Given the description of an element on the screen output the (x, y) to click on. 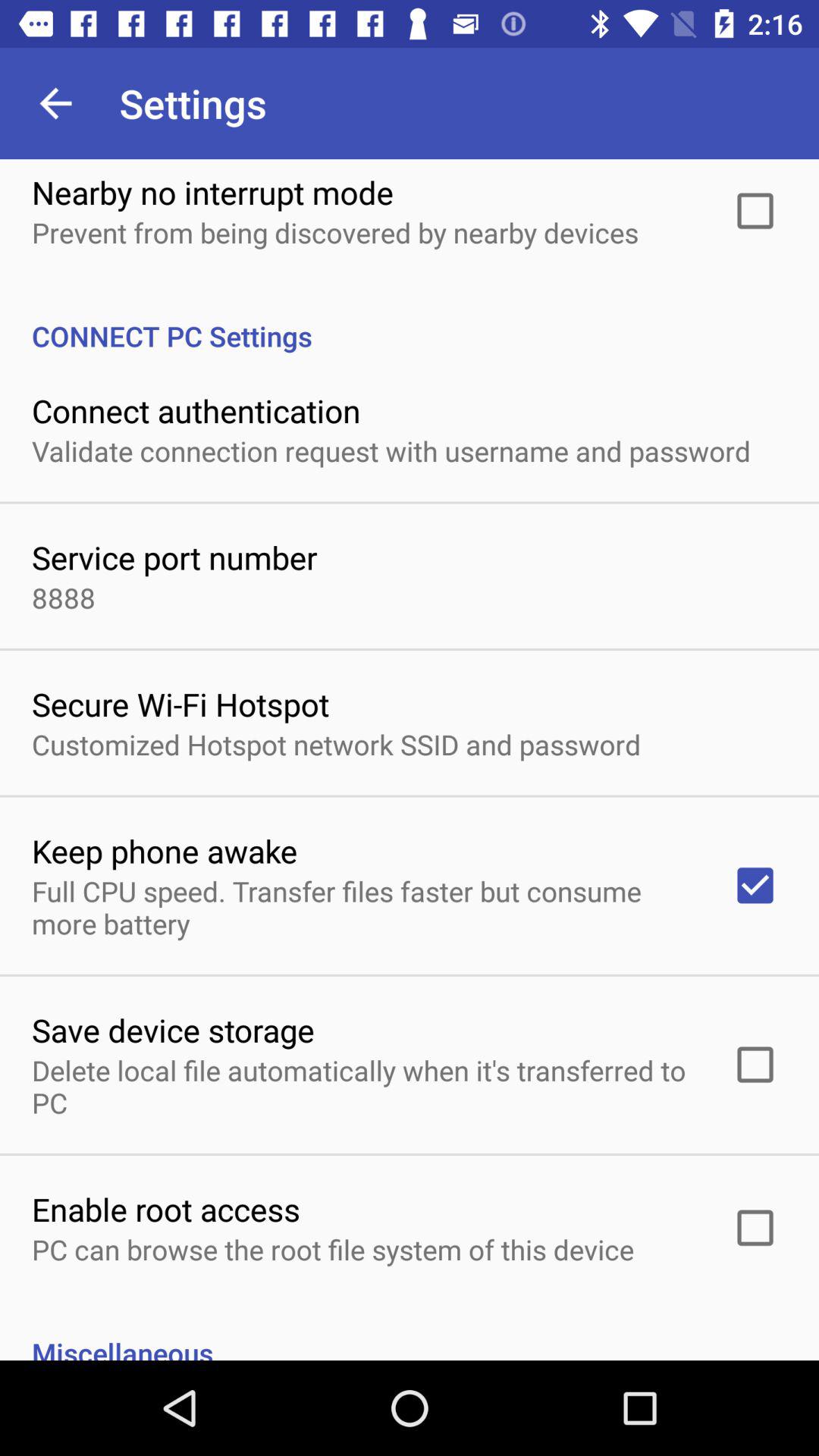
go back (55, 103)
